Given the description of an element on the screen output the (x, y) to click on. 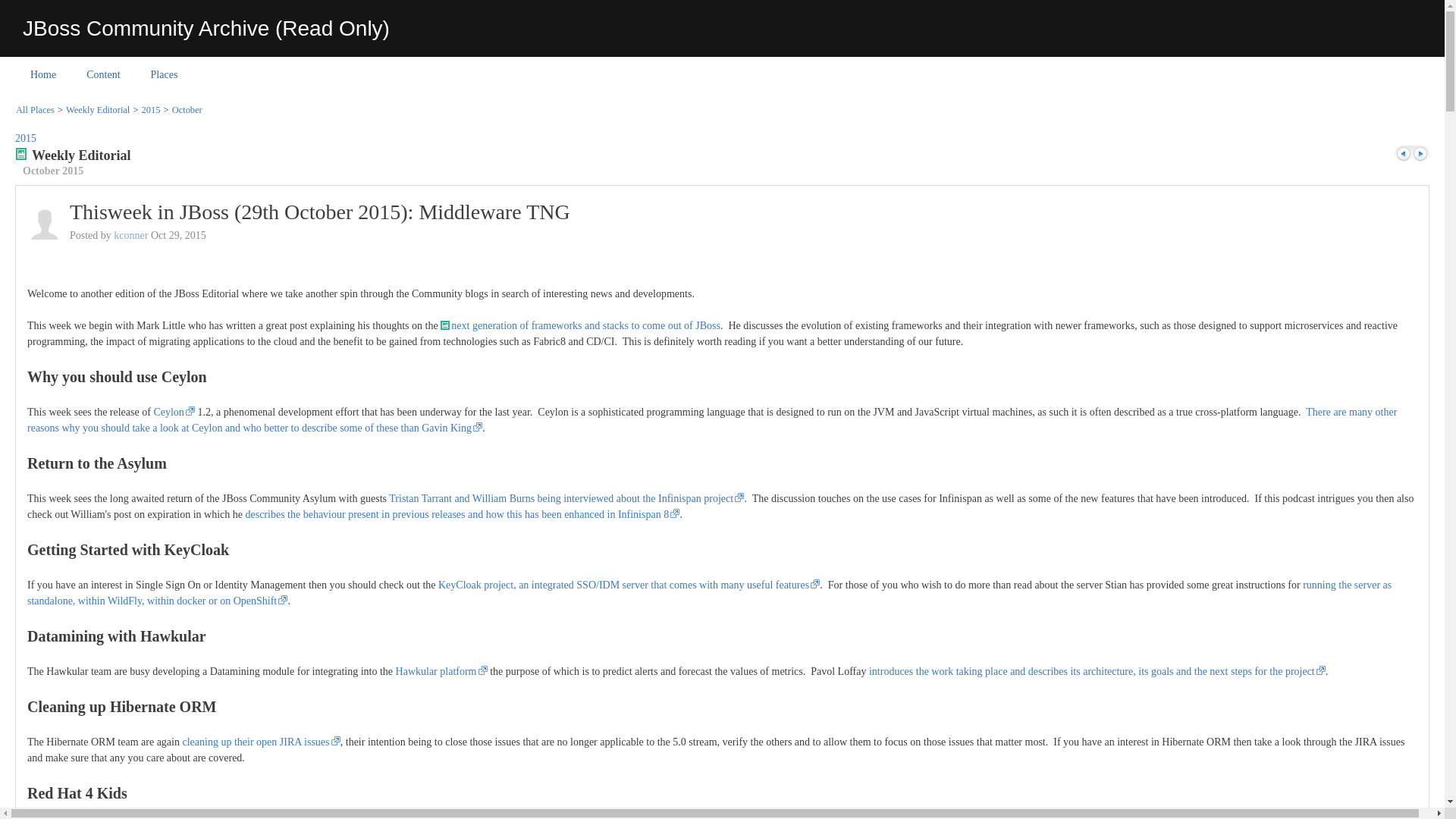
Places (164, 74)
Home (42, 74)
Weekly Editorial (98, 109)
2015 (25, 138)
Previous month (1403, 154)
Next month (1419, 154)
Previous month (1403, 154)
cleaning up their open JIRA issues (260, 741)
Ceylon (173, 411)
kconner (130, 235)
Content (103, 74)
